Given the description of an element on the screen output the (x, y) to click on. 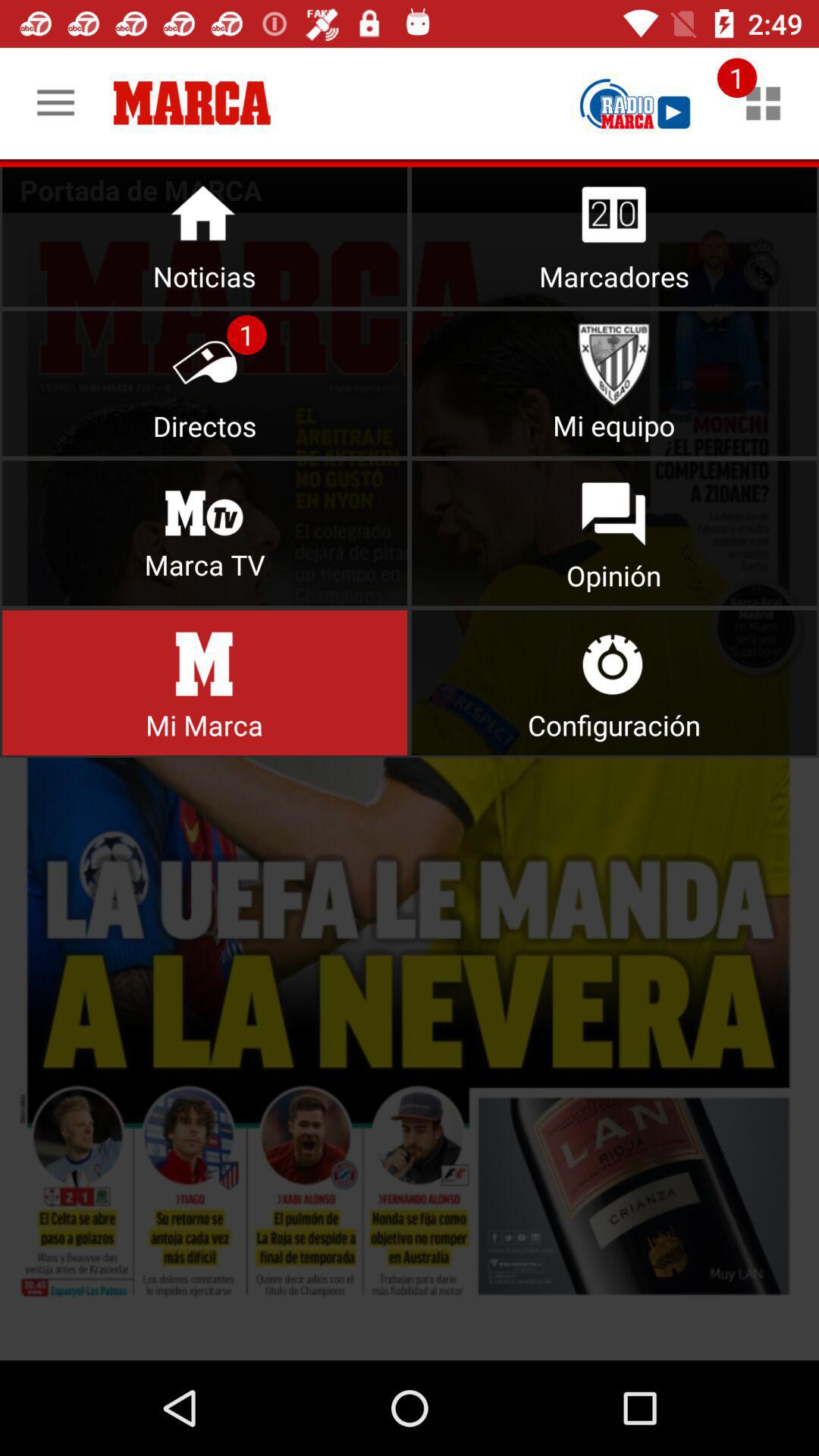
open opinion section (614, 532)
